Given the description of an element on the screen output the (x, y) to click on. 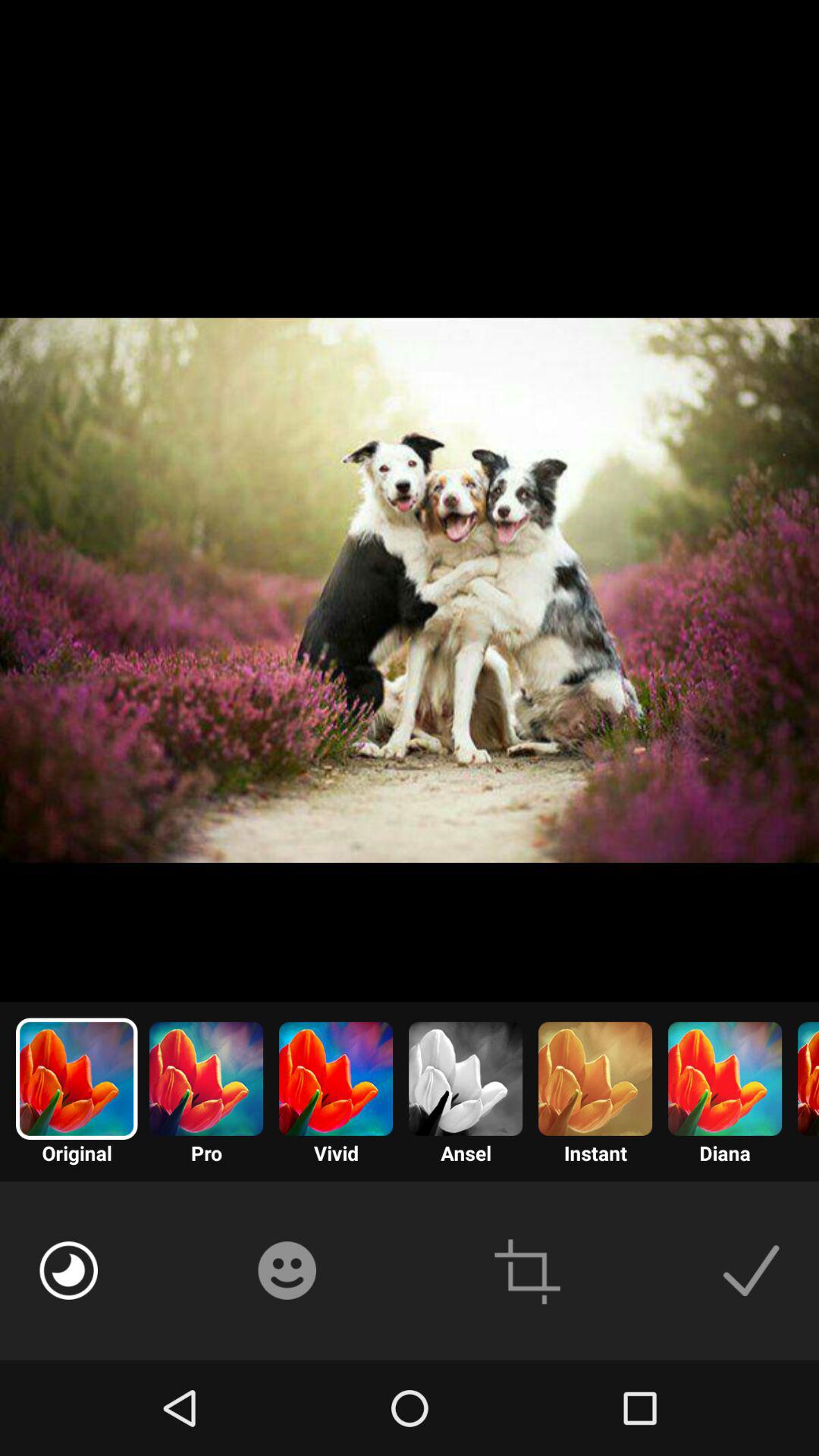
select the image to use (751, 1270)
